Given the description of an element on the screen output the (x, y) to click on. 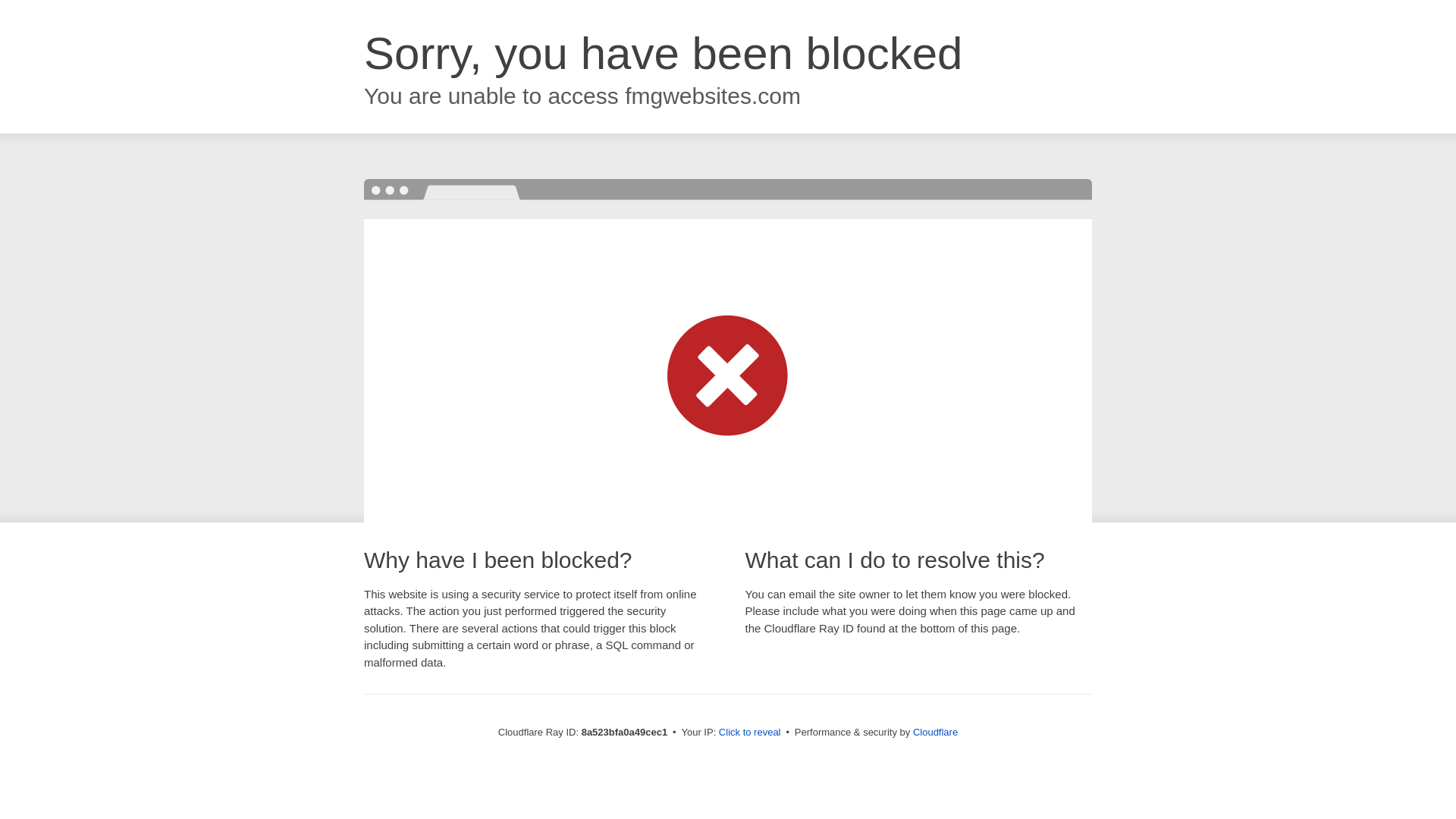
Click to reveal (749, 732)
Cloudflare (935, 731)
